Given the description of an element on the screen output the (x, y) to click on. 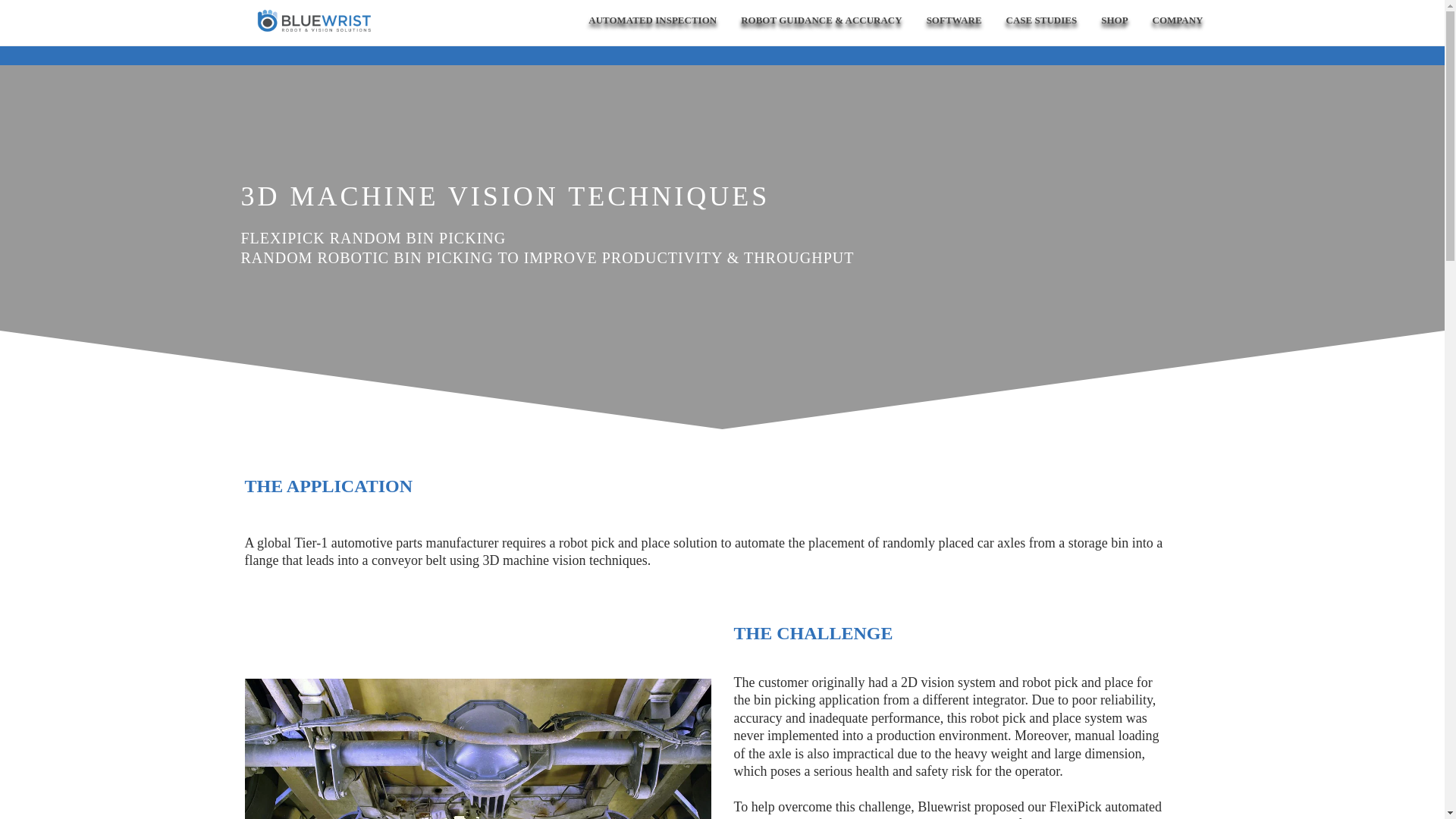
AUTOMATED INSPECTION (652, 18)
CASE STUDIES (1041, 18)
COMPANY (1177, 18)
SHOP (1114, 18)
SHOP (1114, 18)
CASE STUDIES (1041, 18)
Truck Drive Axles (477, 748)
SOFTWARE (954, 18)
COMPANY (1177, 18)
AUTOMATED INSPECTION (652, 18)
